Given the description of an element on the screen output the (x, y) to click on. 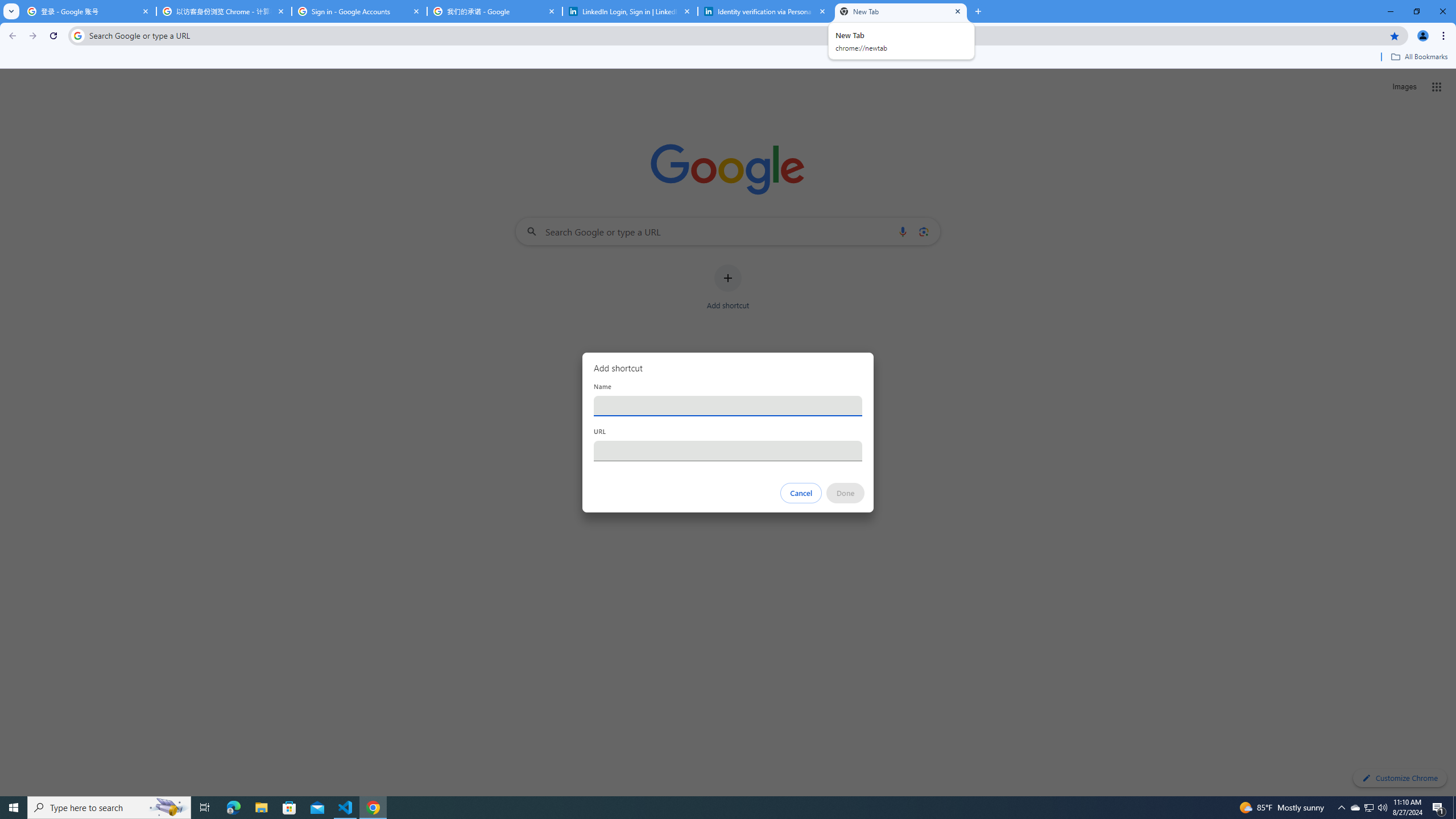
URL (727, 450)
Identity verification via Persona | LinkedIn Help (765, 11)
New Tab (901, 11)
Done (845, 493)
Cancel (801, 493)
